Given the description of an element on the screen output the (x, y) to click on. 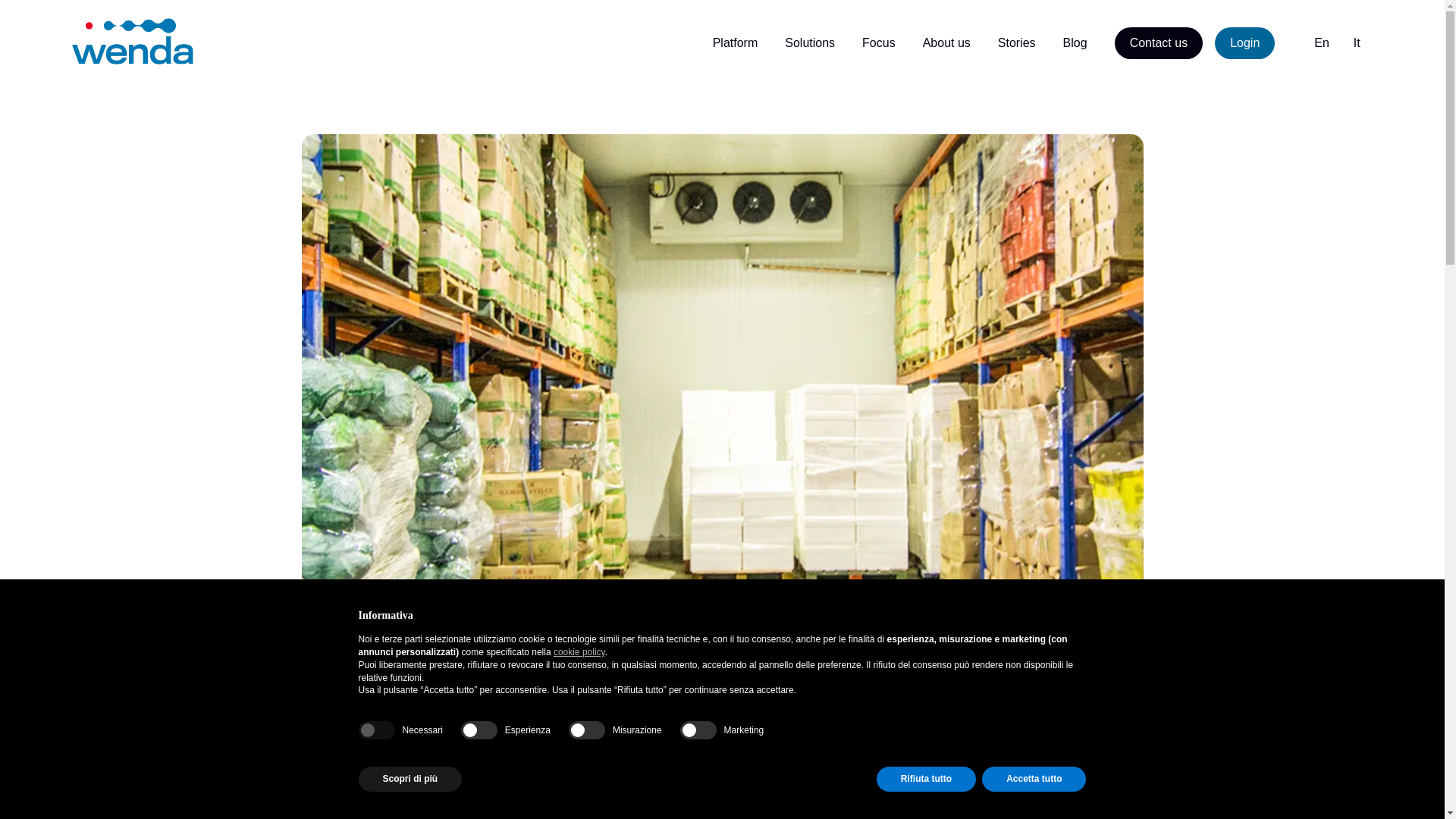
Platform (735, 43)
Stories (1016, 43)
Login (1244, 42)
En (1321, 42)
false (587, 730)
false (479, 730)
Wenda (132, 41)
Solutions (809, 43)
Contact us (1158, 42)
false (697, 730)
true (376, 730)
About us (947, 43)
